Given the description of an element on the screen output the (x, y) to click on. 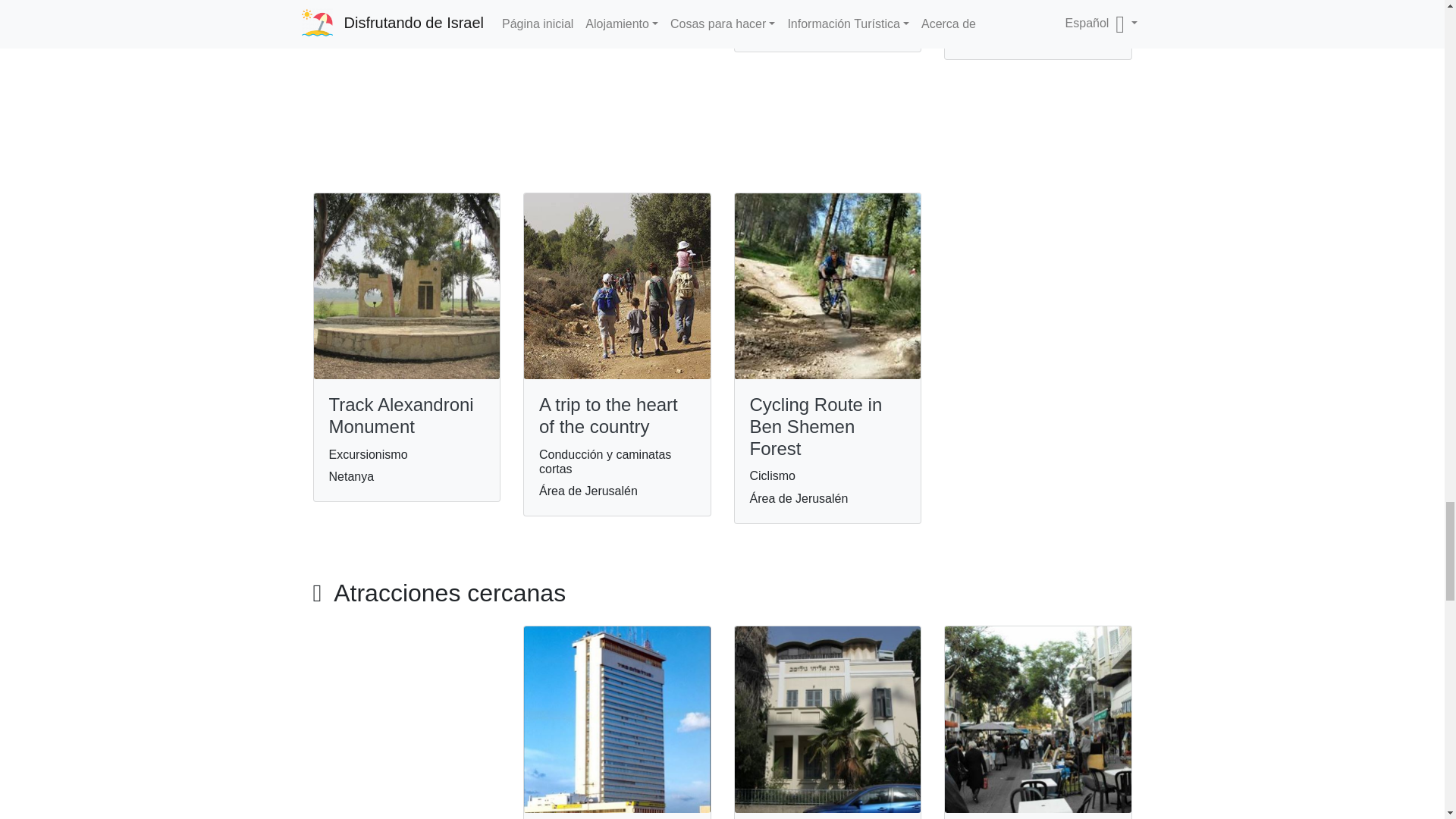
Track Alexandroni Monument (401, 414)
Cycling Route in Ben Shemen Forest (815, 425)
A trip to the heart of the country (608, 414)
